Given the description of an element on the screen output the (x, y) to click on. 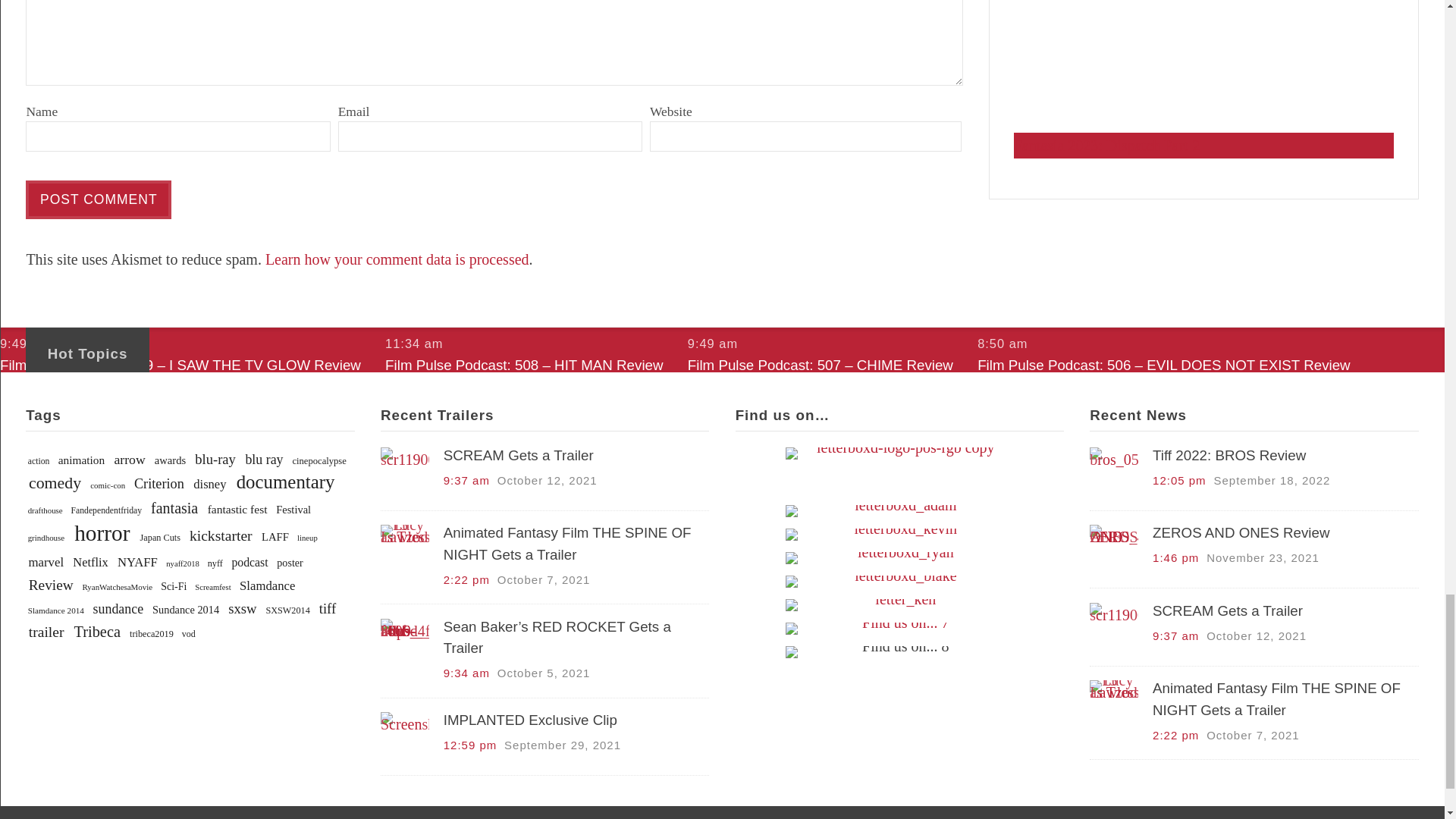
Post Comment (98, 199)
Animated Fantasy Film THE SPINE OF NIGHT Gets a Trailer (404, 547)
SCREAM Gets a Trailer (404, 469)
